Given the description of an element on the screen output the (x, y) to click on. 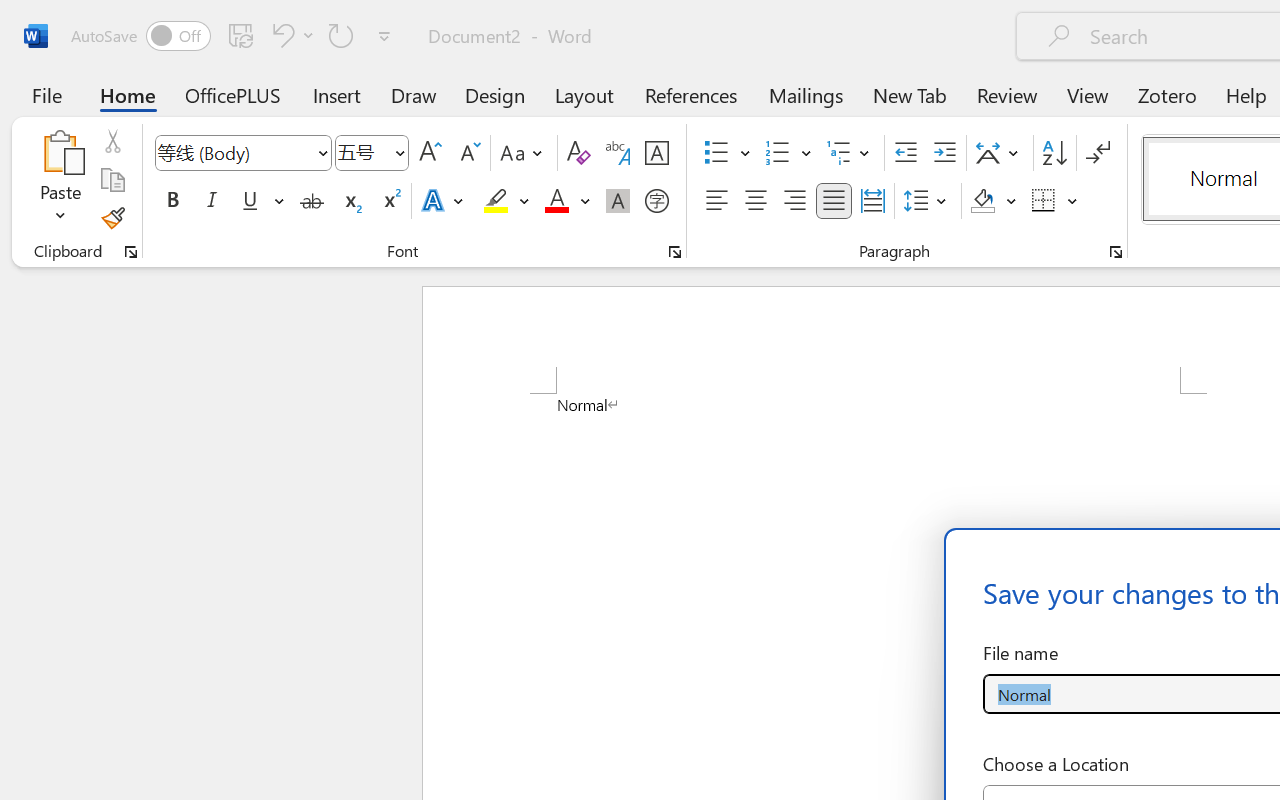
Cut (112, 141)
Phonetic Guide... (618, 153)
